Given the description of an element on the screen output the (x, y) to click on. 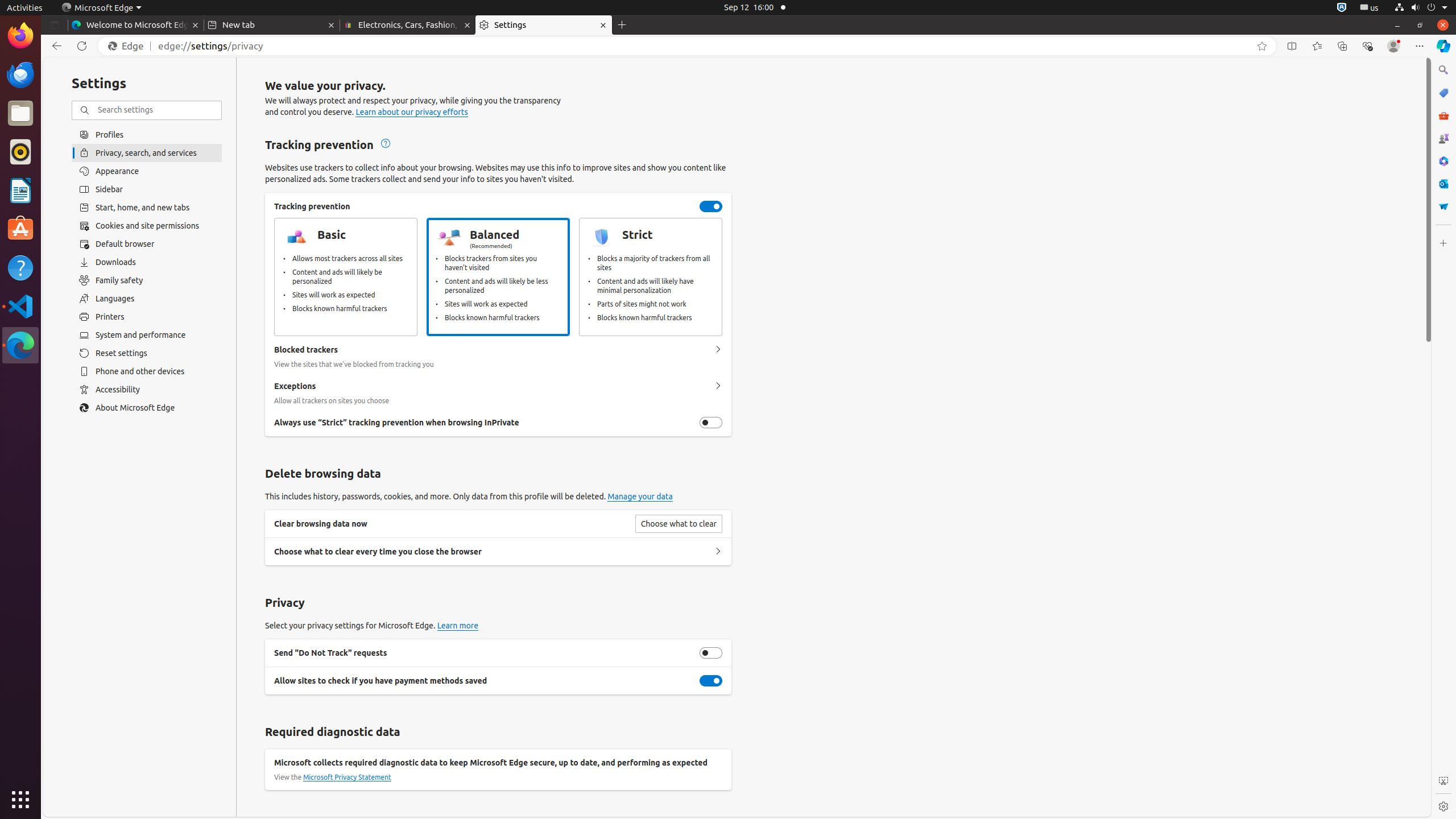
Choose what to clear every time you close the browser Element type: push-button (717, 551)
Appearance Element type: tree-item (146, 171)
Settings Element type: page-tab (543, 25)
Outlook Element type: push-button (1443, 183)
Ubuntu Software Element type: push-button (20, 229)
